Given the description of an element on the screen output the (x, y) to click on. 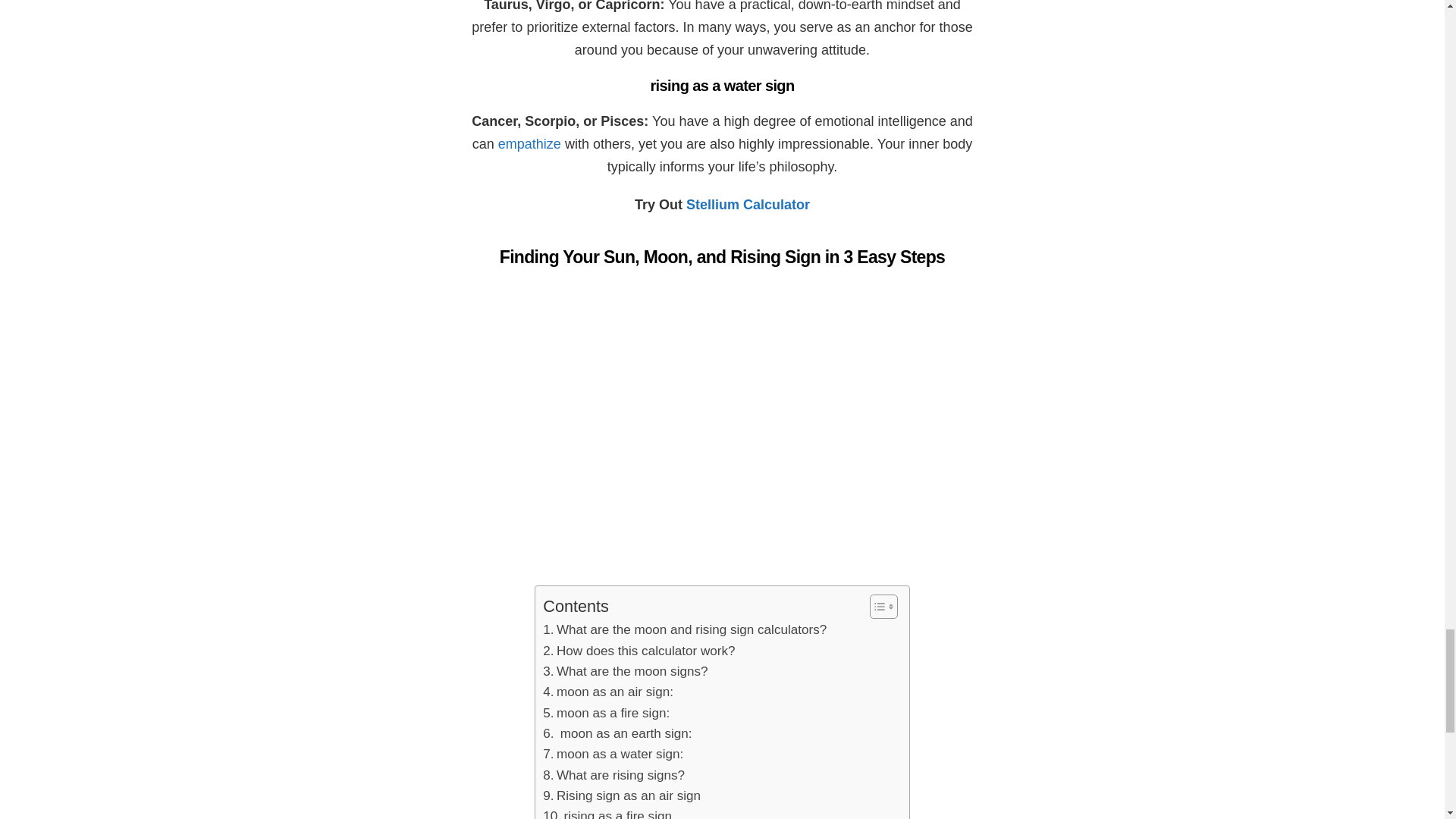
Stellium Calculator (747, 204)
How does this calculator work? (639, 649)
What are the moon and rising sign calculators? (685, 629)
rising as a fire sign (607, 812)
What are the moon signs? (625, 670)
moon as a water sign: (612, 753)
What are rising signs? (613, 774)
moon as an air sign: (607, 691)
moon as a fire sign: (606, 712)
Rising sign as an air sign (621, 795)
empathize (528, 143)
